Given the description of an element on the screen output the (x, y) to click on. 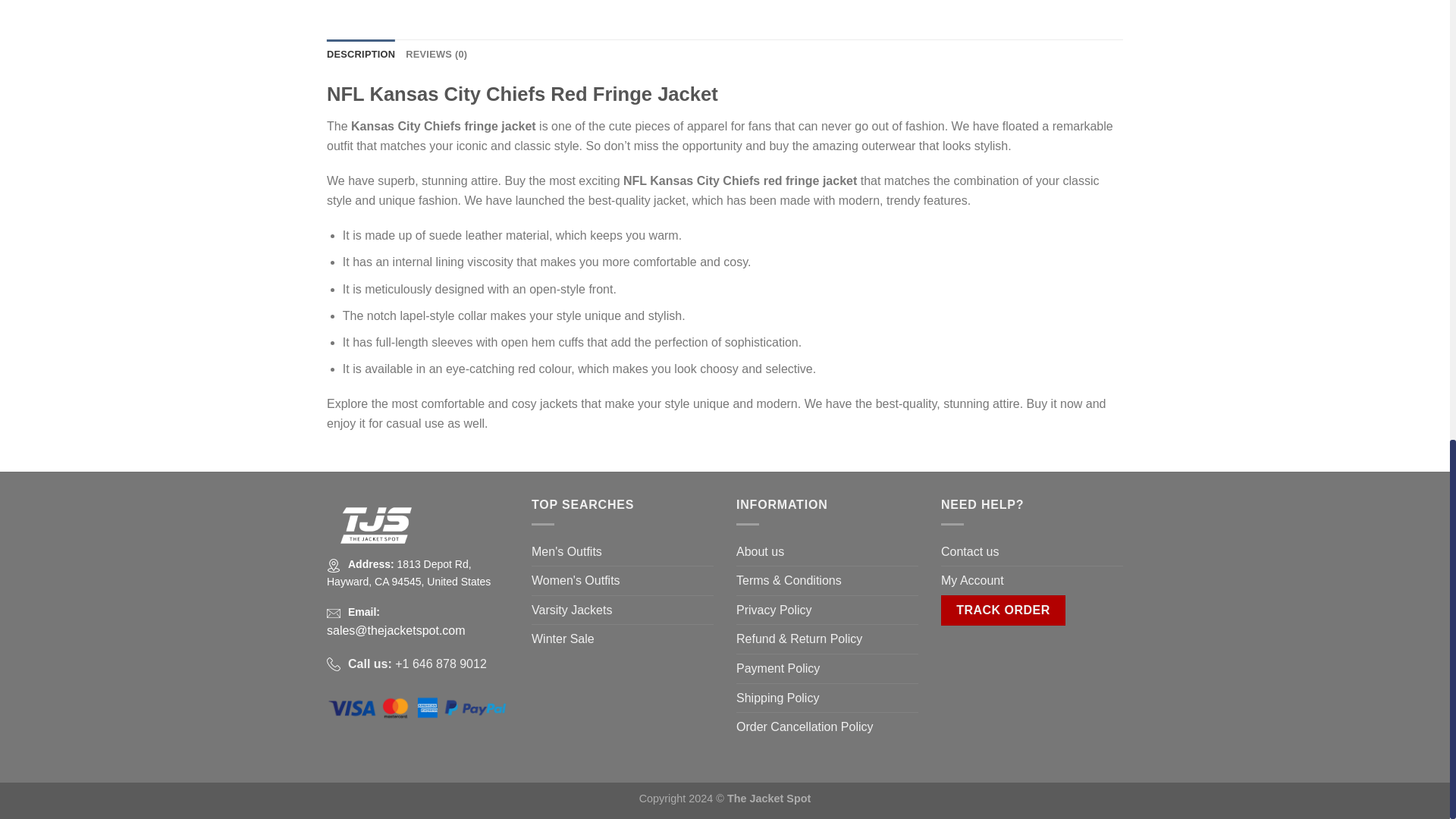
DESCRIPTION (360, 54)
